Given the description of an element on the screen output the (x, y) to click on. 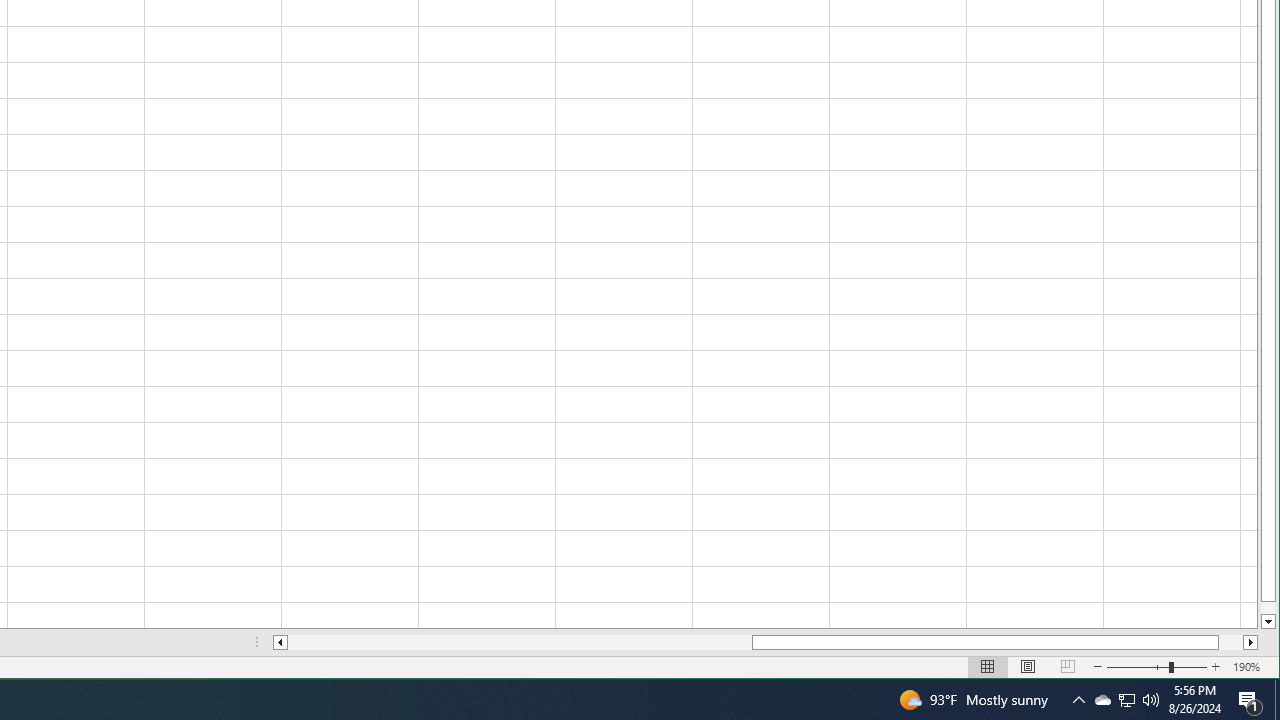
Notification Chevron (1078, 699)
Show desktop (1277, 699)
